Given the description of an element on the screen output the (x, y) to click on. 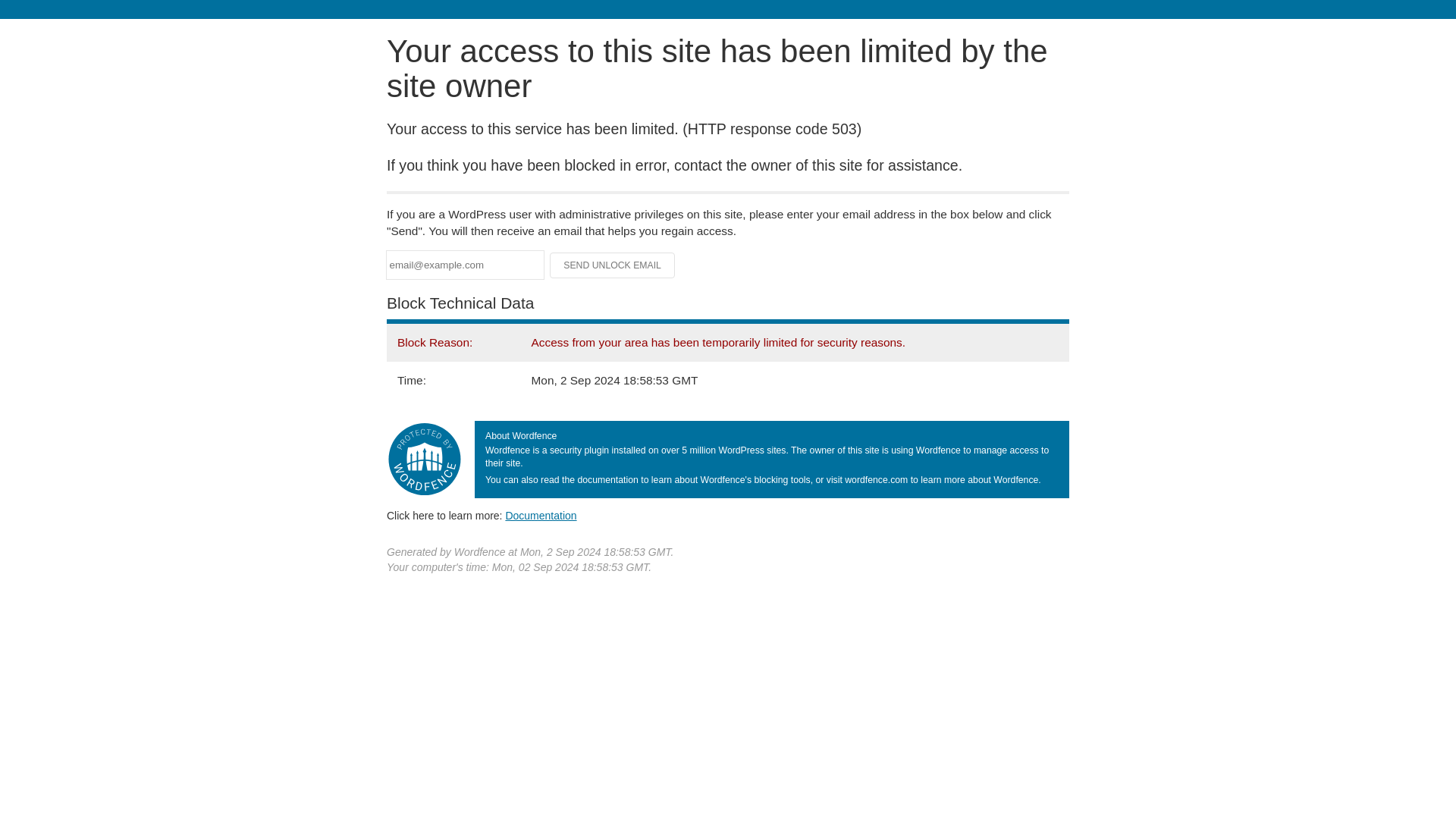
Send Unlock Email (612, 265)
Send Unlock Email (612, 265)
Documentation (540, 515)
